Given the description of an element on the screen output the (x, y) to click on. 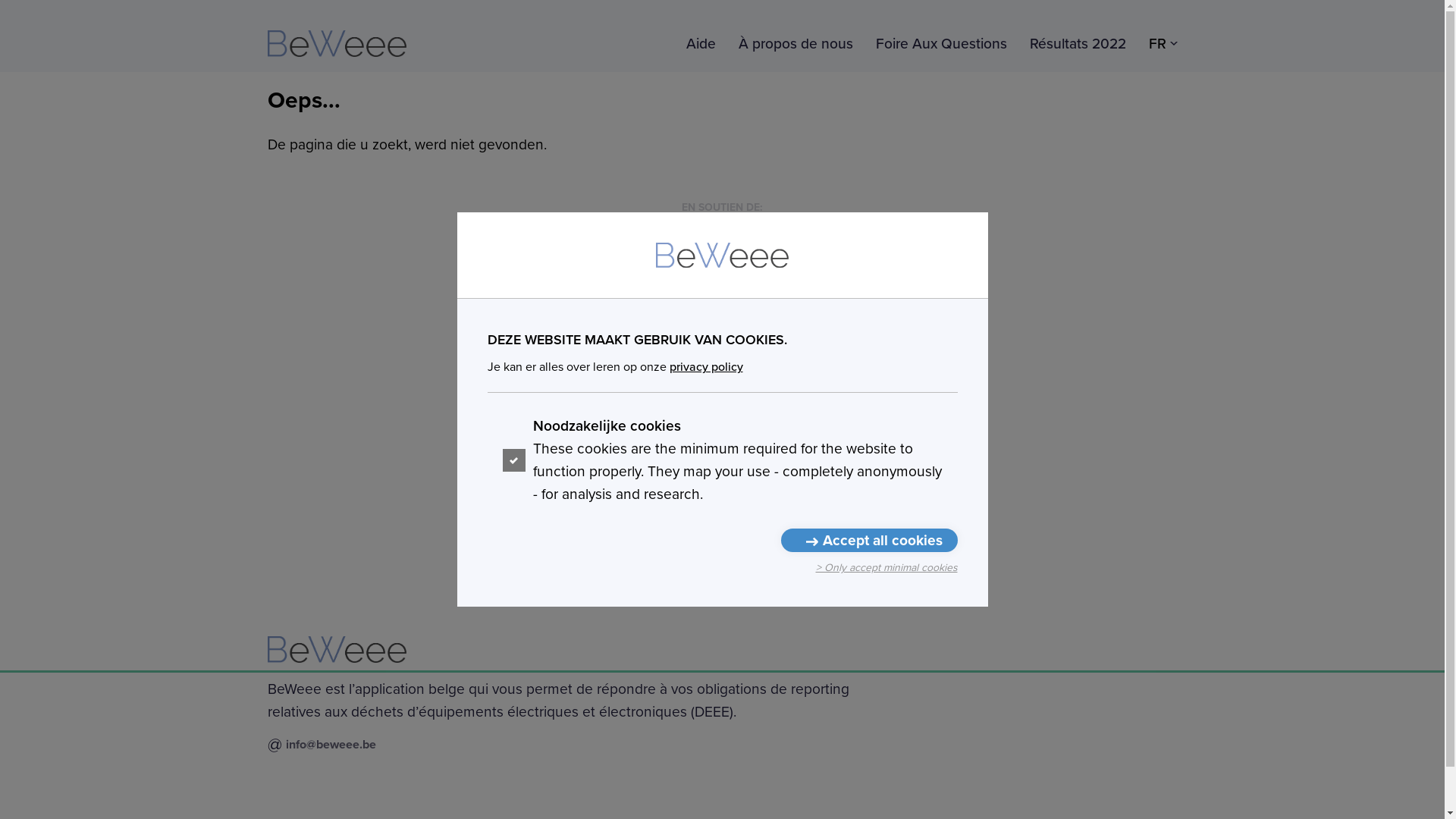
info@beweee.be Element type: text (330, 744)
> Only accept minimal cookies Element type: text (886, 567)
Aide Element type: text (700, 42)
Accept all cookies Element type: text (869, 540)
Foire Aux Questions Element type: text (940, 42)
privacy policy Element type: text (705, 366)
